Given the description of an element on the screen output the (x, y) to click on. 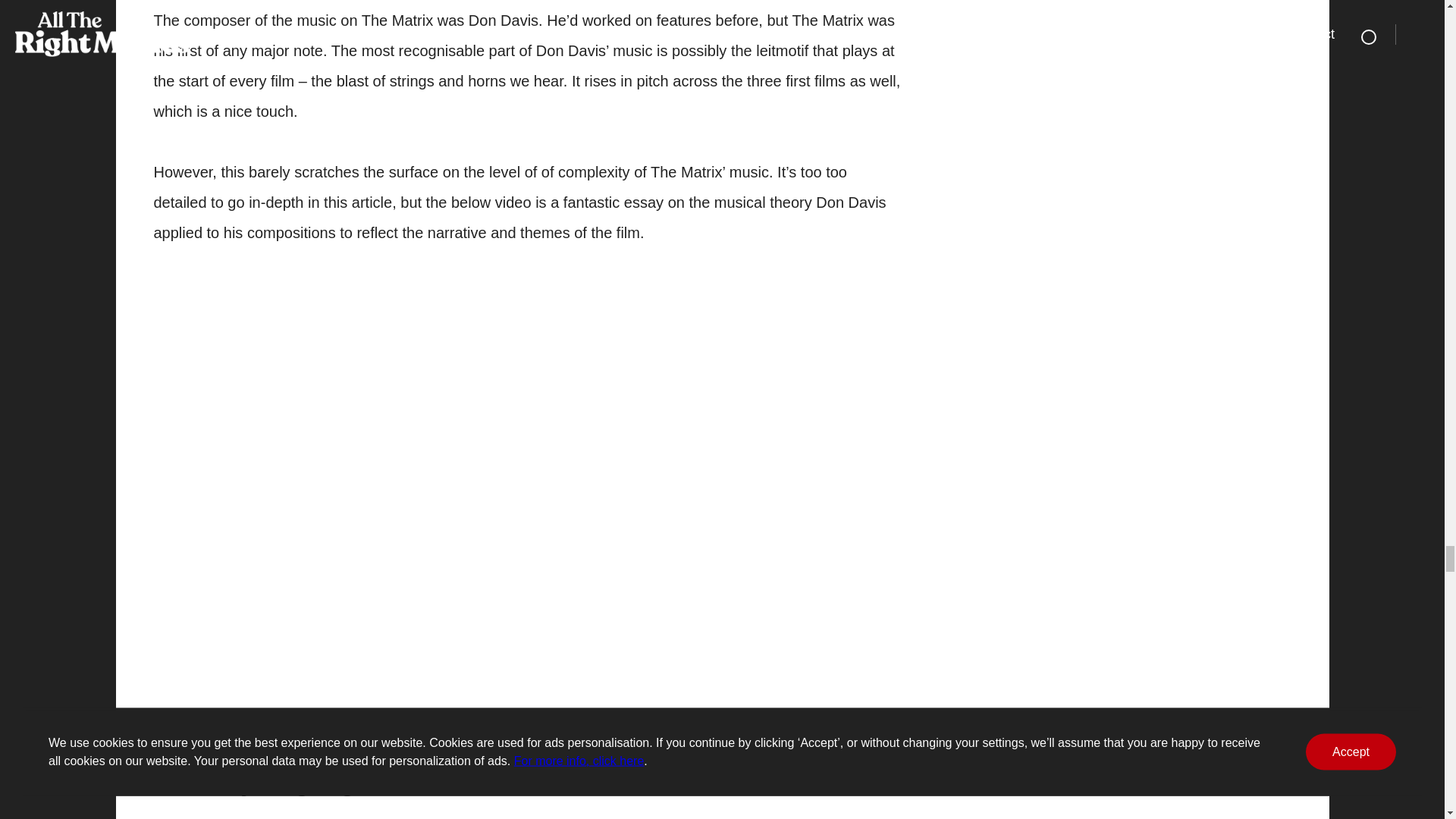
Decoding the Music of The Matrix (395, 414)
